Given the description of an element on the screen output the (x, y) to click on. 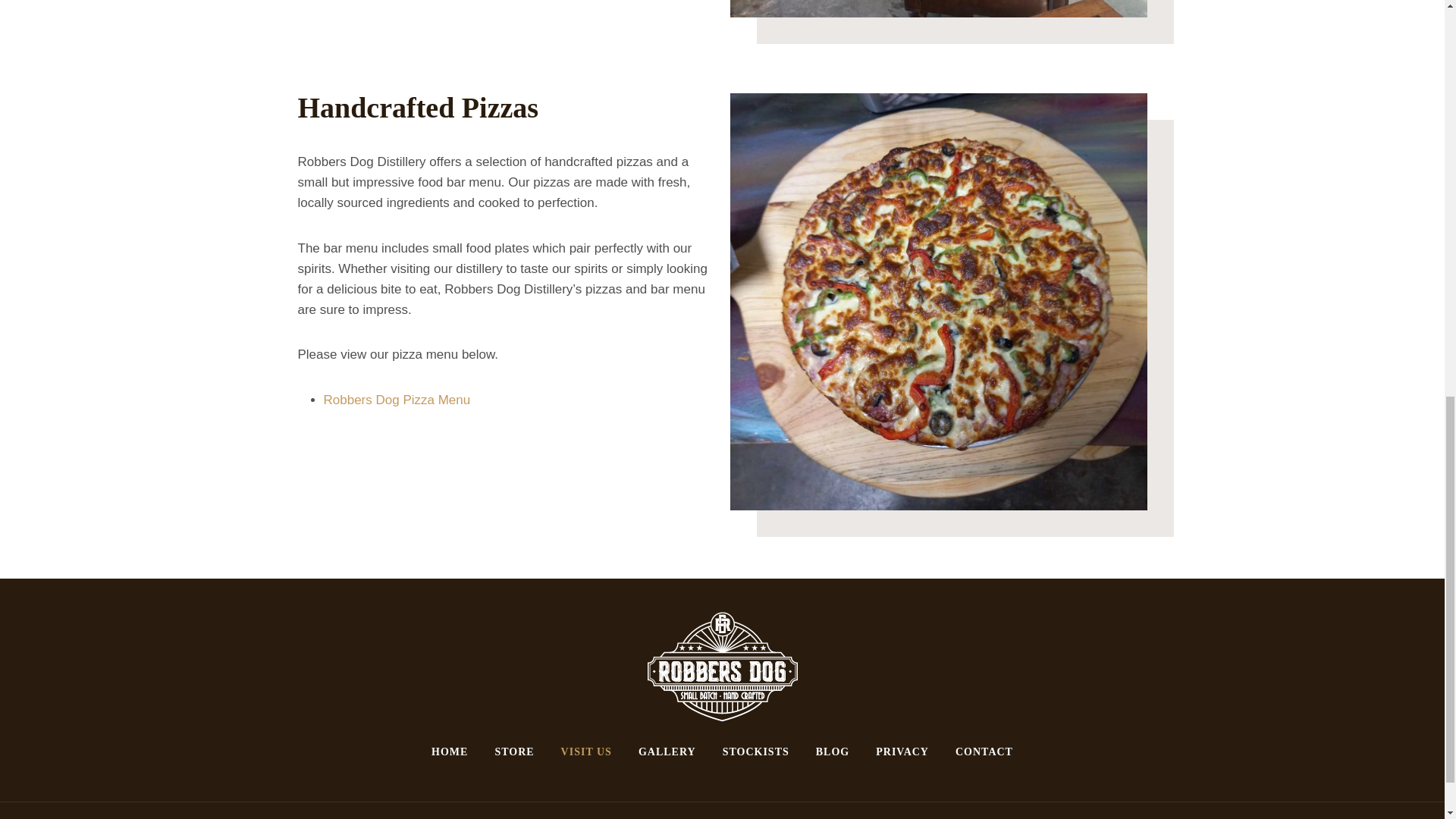
HOME (450, 752)
BLOG (831, 752)
STORE (514, 752)
CONTACT (984, 752)
Robbers Dog Pizza Menu (396, 400)
GALLERY (666, 752)
STOCKISTS (755, 752)
VISIT US (585, 752)
PRIVACY (902, 752)
